Given the description of an element on the screen output the (x, y) to click on. 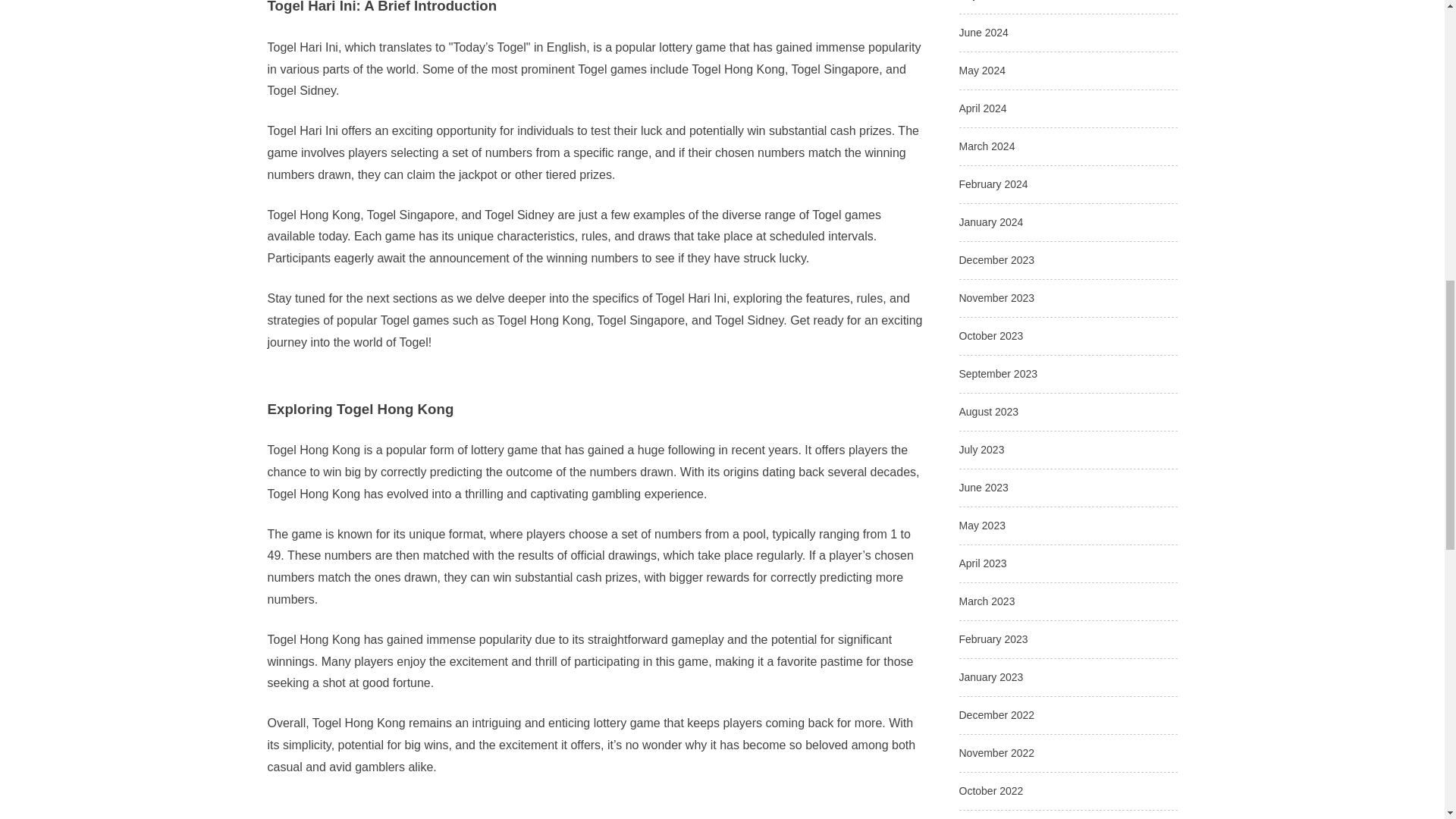
August 2023 (987, 411)
November 2022 (995, 752)
June 2023 (982, 487)
December 2023 (995, 259)
September 2023 (997, 373)
March 2024 (986, 146)
March 2023 (986, 601)
November 2023 (995, 297)
January 2023 (990, 676)
October 2023 (990, 336)
February 2023 (992, 639)
December 2022 (995, 715)
October 2022 (990, 790)
January 2024 (990, 222)
February 2024 (992, 184)
